Given the description of an element on the screen output the (x, y) to click on. 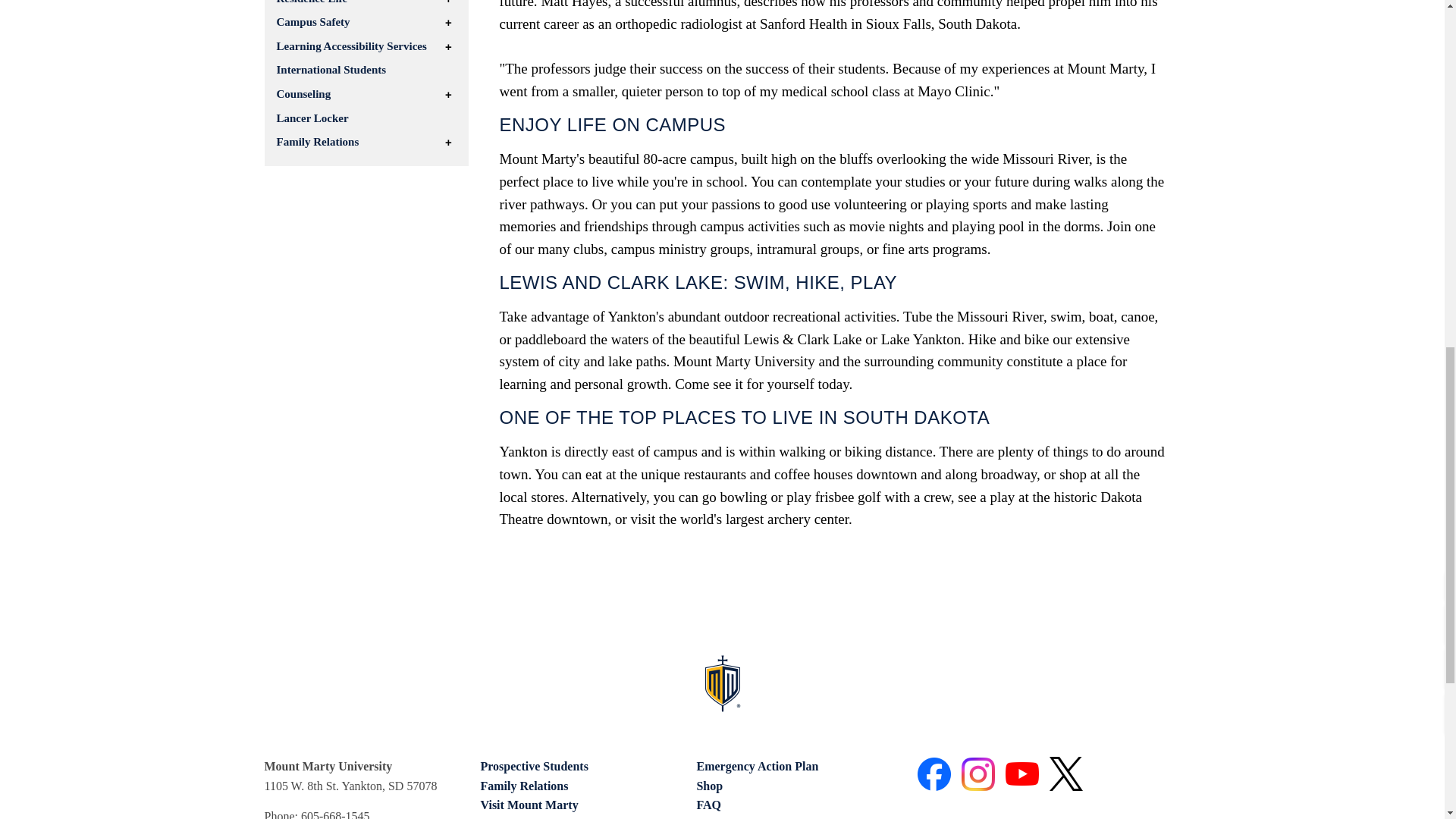
Visit Mount Marty (529, 804)
Mount Marty University (721, 682)
Apply (496, 818)
Family Relations (523, 785)
